Given the description of an element on the screen output the (x, y) to click on. 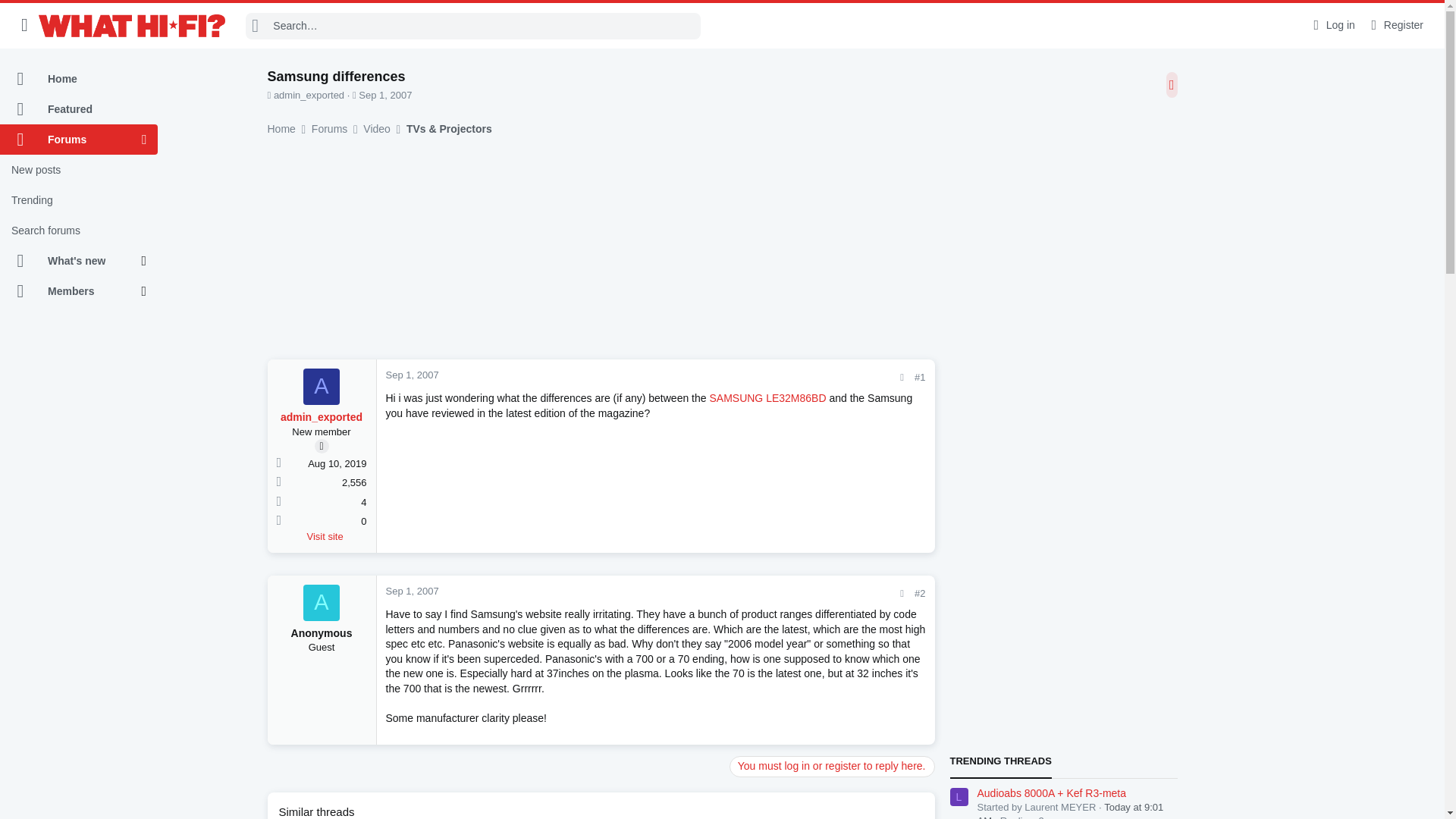
Messages (278, 482)
Forums (70, 139)
Original poster (321, 445)
Trending (78, 200)
Featured (78, 109)
Sidebar (1171, 84)
Home (78, 78)
Sep 1, 2007 at 4:11 PM (385, 94)
Log in (1332, 24)
Thread starter (268, 94)
New posts (78, 169)
Start date (354, 94)
What's new (70, 260)
Register (1395, 24)
